Given the description of an element on the screen output the (x, y) to click on. 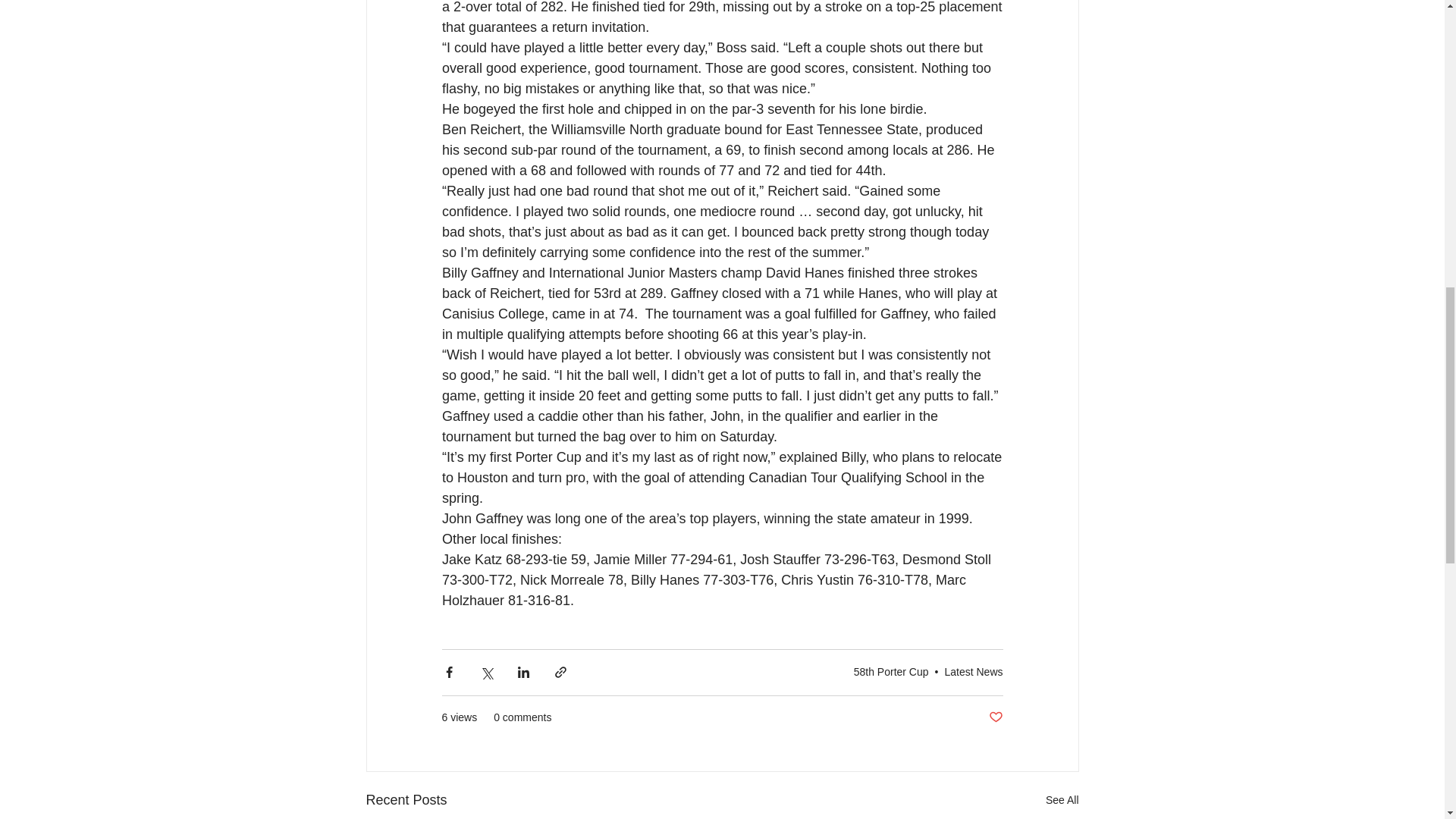
58th Porter Cup (890, 671)
Latest News (973, 671)
See All (1061, 800)
Post not marked as liked (995, 717)
